Given the description of an element on the screen output the (x, y) to click on. 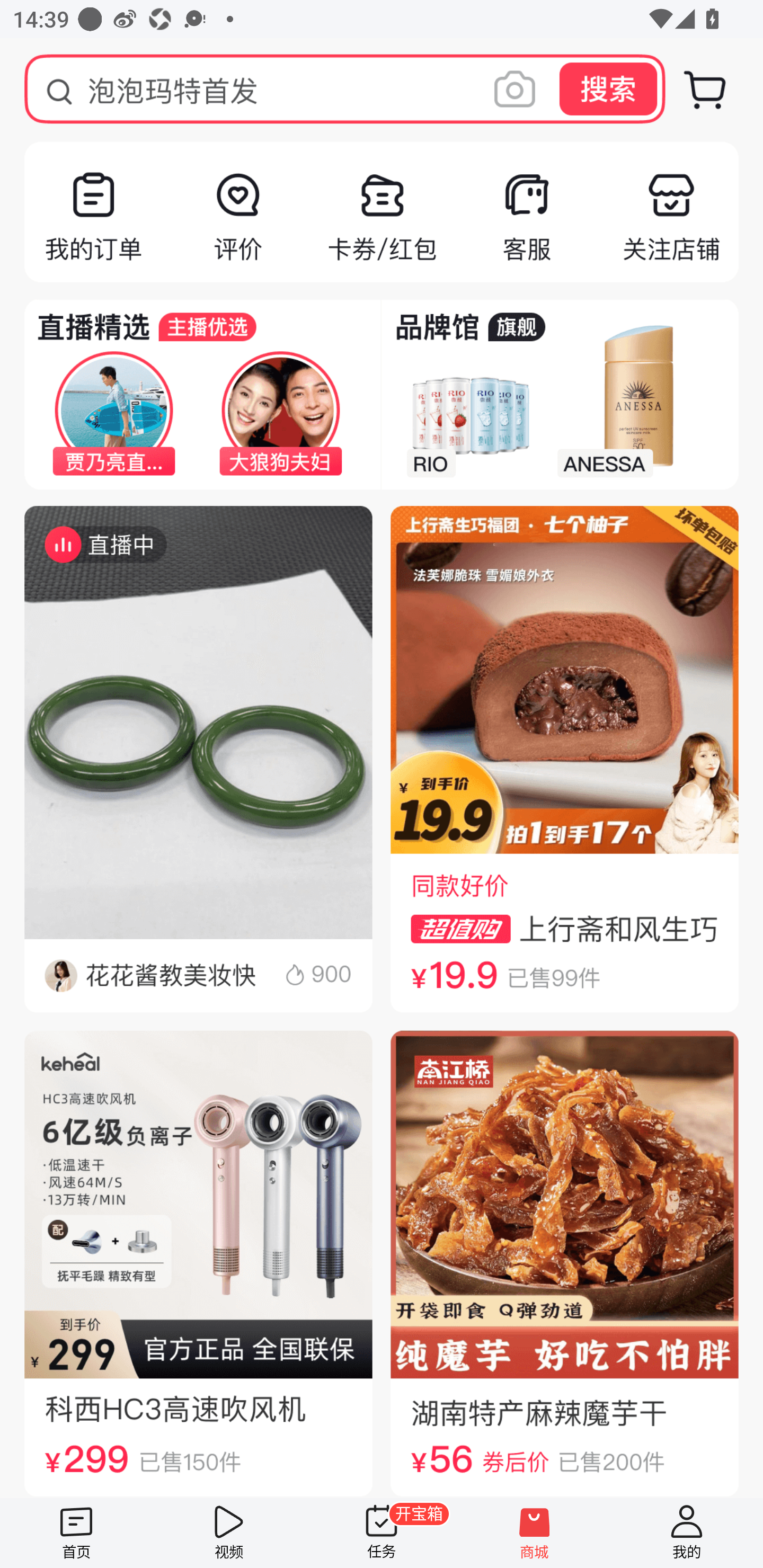
首页 (76, 1532)
视频 (228, 1532)
任务 开宝箱 (381, 1532)
商城 (533, 1532)
我的 (686, 1532)
